Given the description of an element on the screen output the (x, y) to click on. 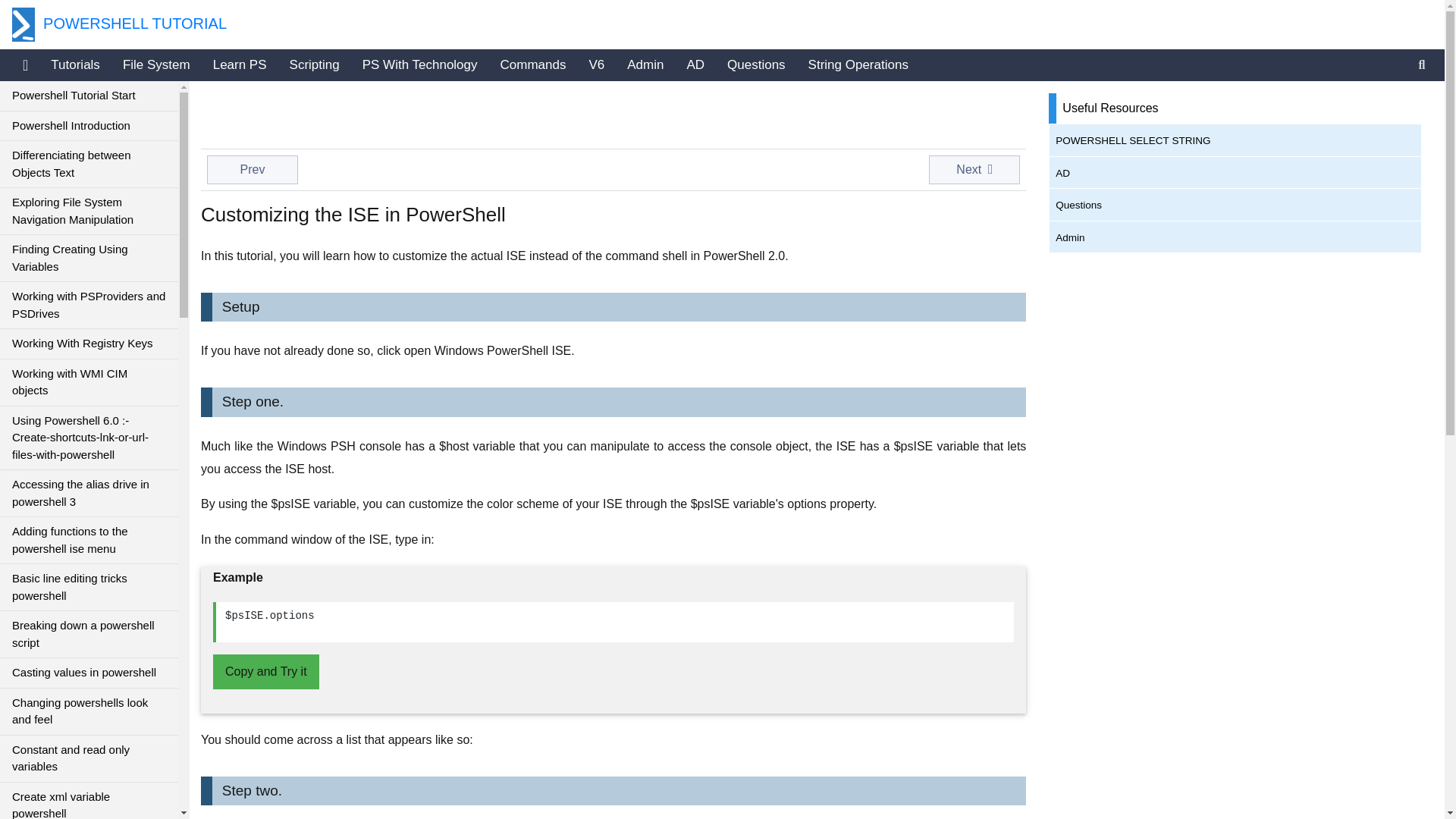
Admin (645, 65)
Working with WMI CIM objects (88, 382)
Accessing the alias drive in powershell 3 (88, 493)
AD (695, 65)
  POWERSHELL TUTORIAL (119, 24)
V6 (595, 65)
Advertisement (322, 112)
Exploring File System Navigation Manipulation (88, 211)
Questions (756, 65)
Learn PS (240, 65)
Tutorials (75, 65)
Working With Registry Keys (88, 344)
Differenciating between Objects Text (88, 164)
PS With Technology (419, 65)
Scripting (314, 65)
